Given the description of an element on the screen output the (x, y) to click on. 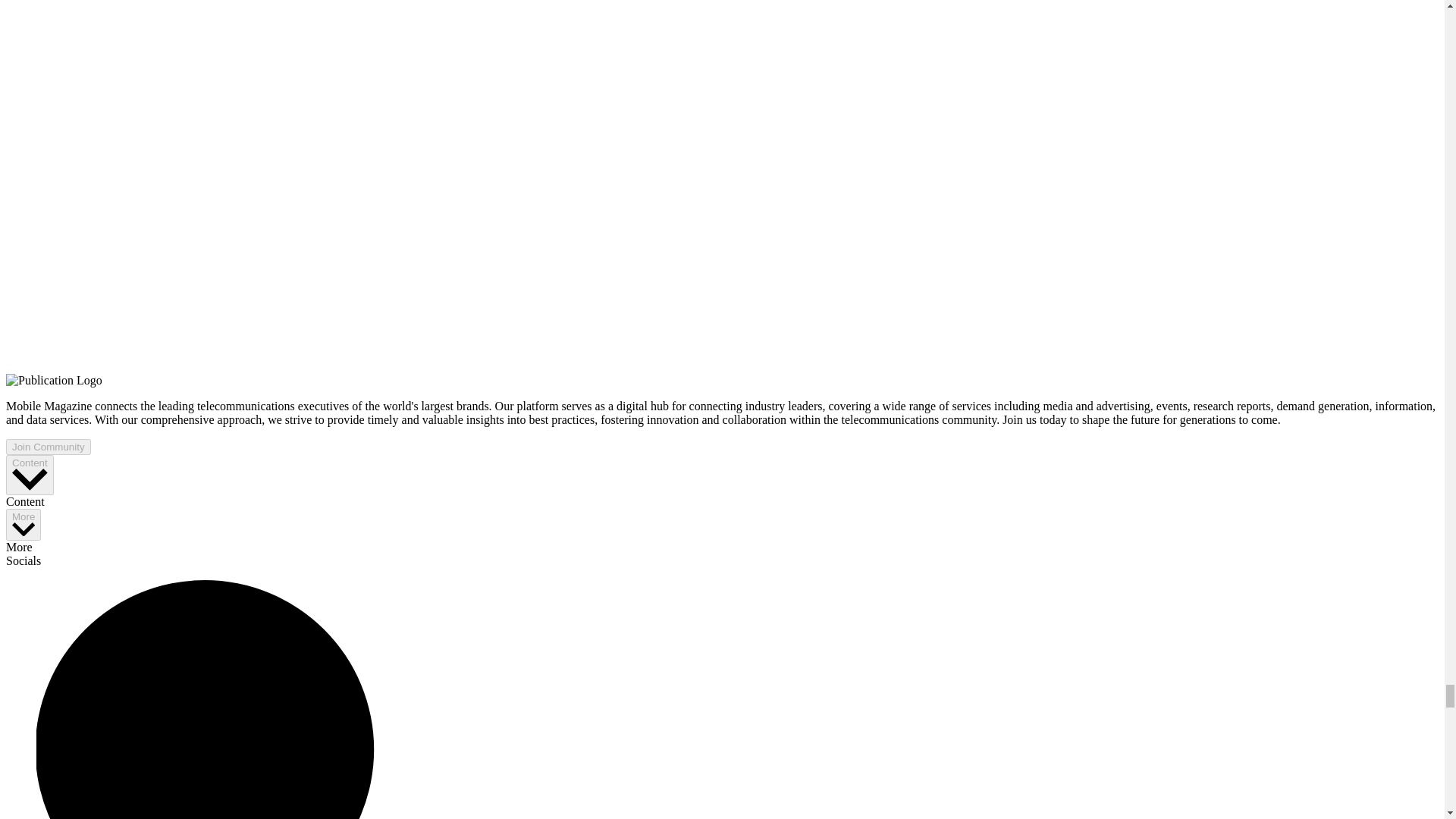
Join Community (47, 446)
Content (29, 475)
